Given the description of an element on the screen output the (x, y) to click on. 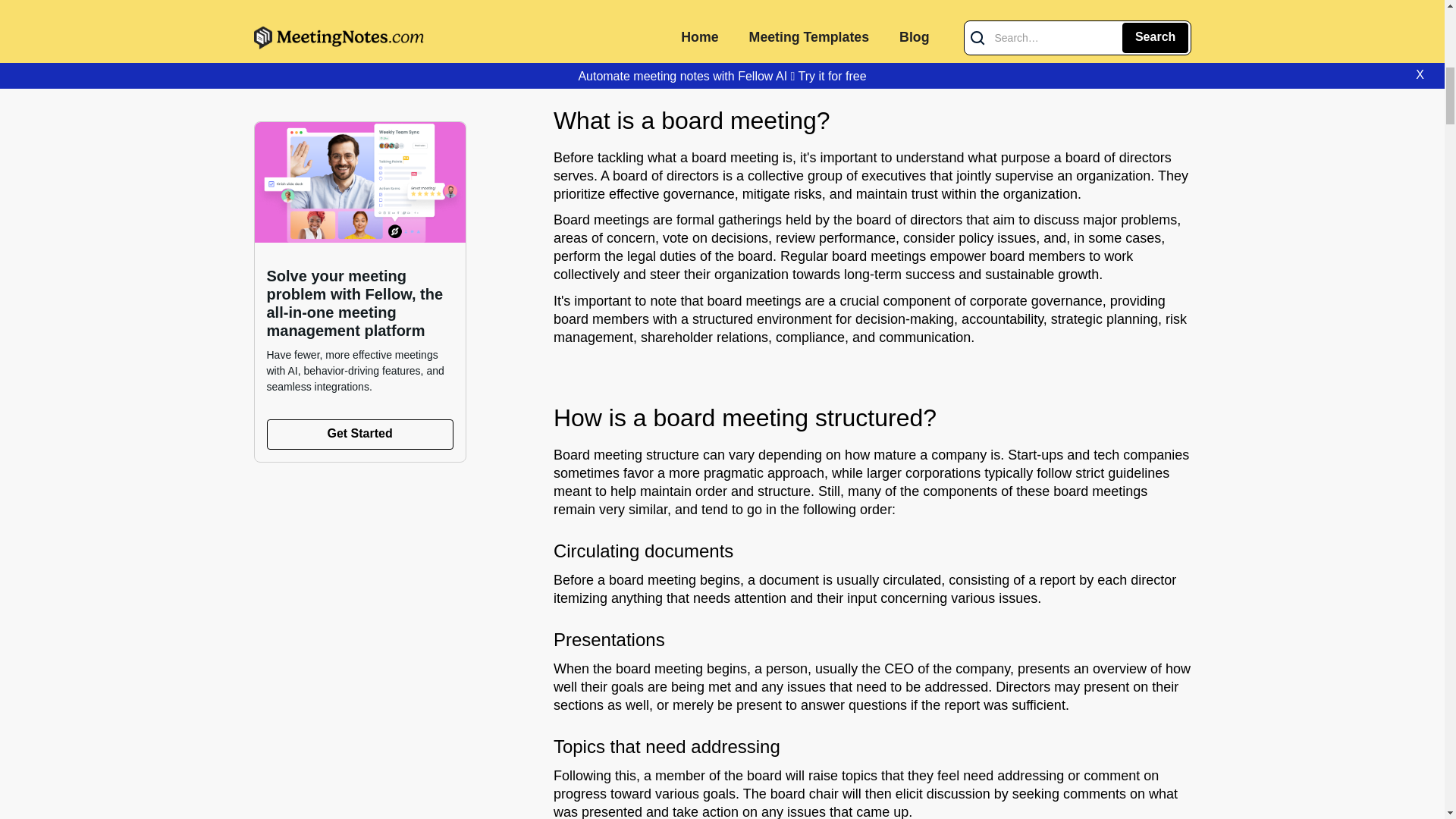
Board meeting tools for enhanced productivity (717, 23)
Board meeting templates (653, 6)
Final thoughts (620, 64)
FAQs about board meetings (663, 44)
